Given the description of an element on the screen output the (x, y) to click on. 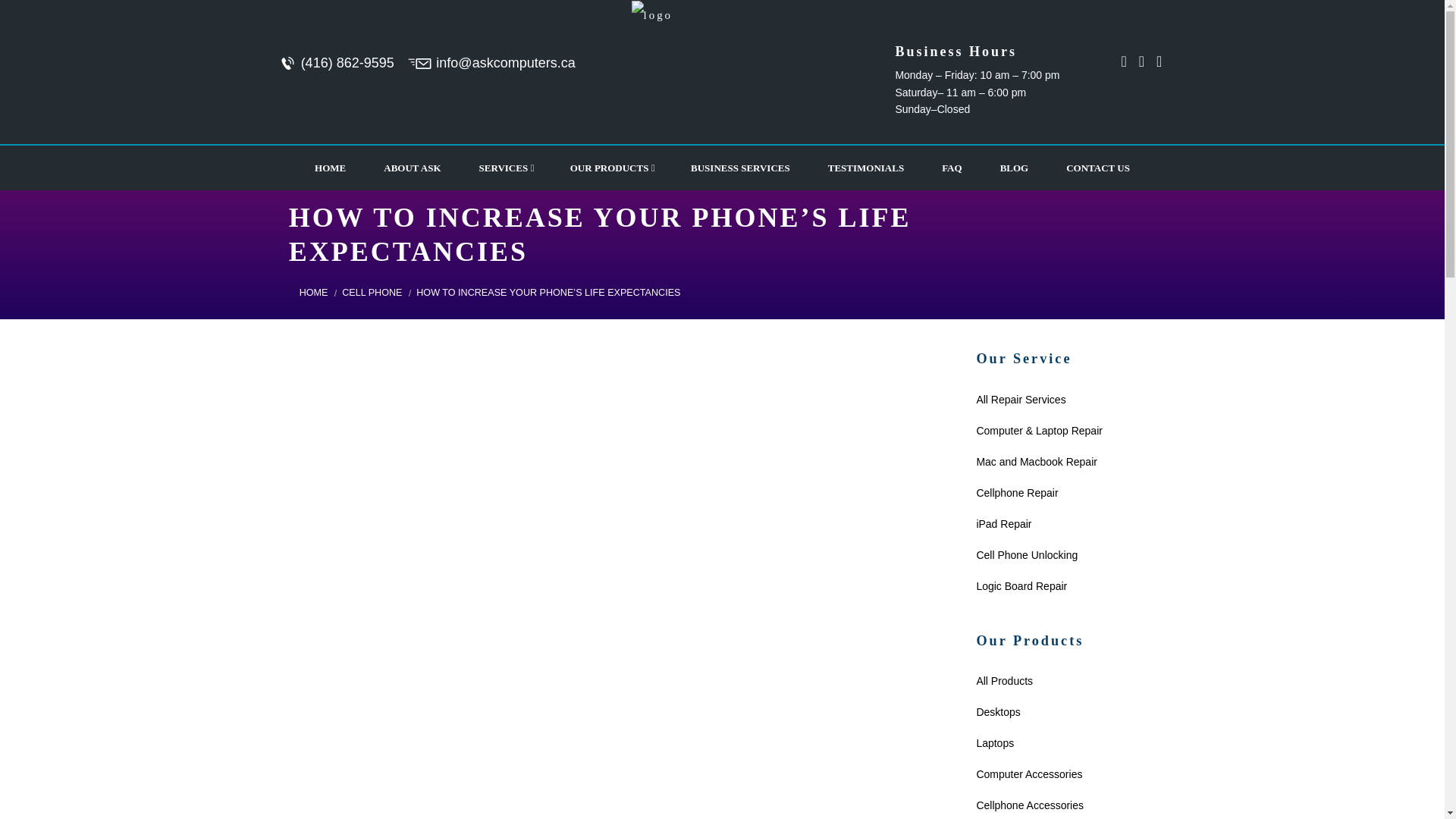
FAQ (951, 167)
ABOUT ASK (412, 167)
HOME (330, 167)
TESTIMONIALS (866, 167)
CELL PHONE (371, 292)
BLOG (1014, 167)
BUSINESS SERVICES (740, 167)
OUR PRODUCTS (611, 167)
SERVICES (505, 167)
HOME (314, 292)
CONTACT US (1097, 167)
